Given the description of an element on the screen output the (x, y) to click on. 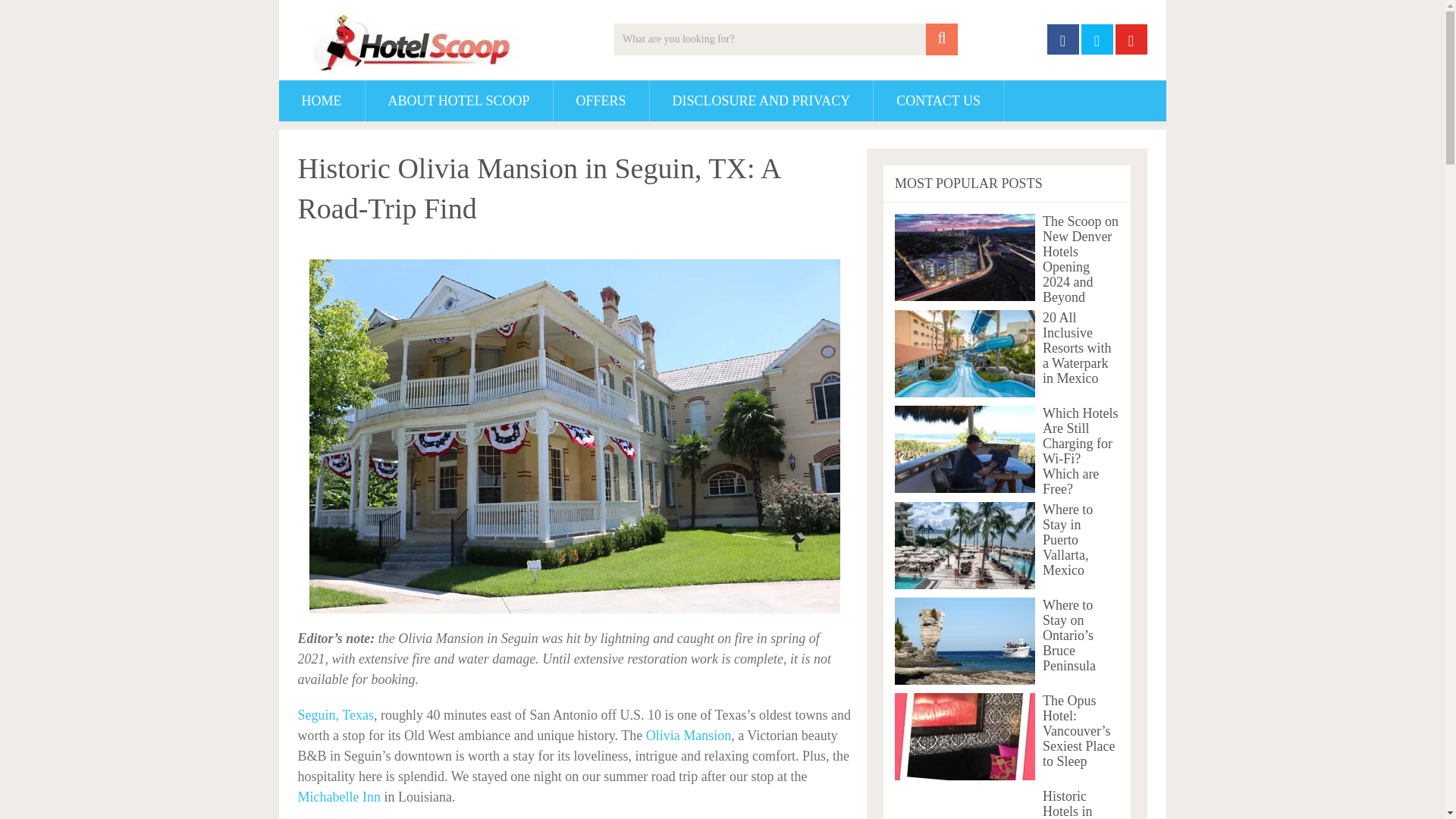
The Scoop on New Denver Hotels Opening 2024 and Beyond (965, 257)
DISCLOSURE AND PRIVACY (761, 100)
Michabelle Inn (340, 796)
ABOUT HOTEL SCOOP (459, 100)
OFFERS (601, 100)
Seguin, Texas (334, 714)
Which Hotels Are Still Charging for Wi-Fi? Which are Free? (965, 449)
HOME (322, 100)
Where to Stay in Puerto Vallarta, Mexico (965, 545)
20 All Inclusive Resorts with a Waterpark in Mexico (965, 353)
